Given the description of an element on the screen output the (x, y) to click on. 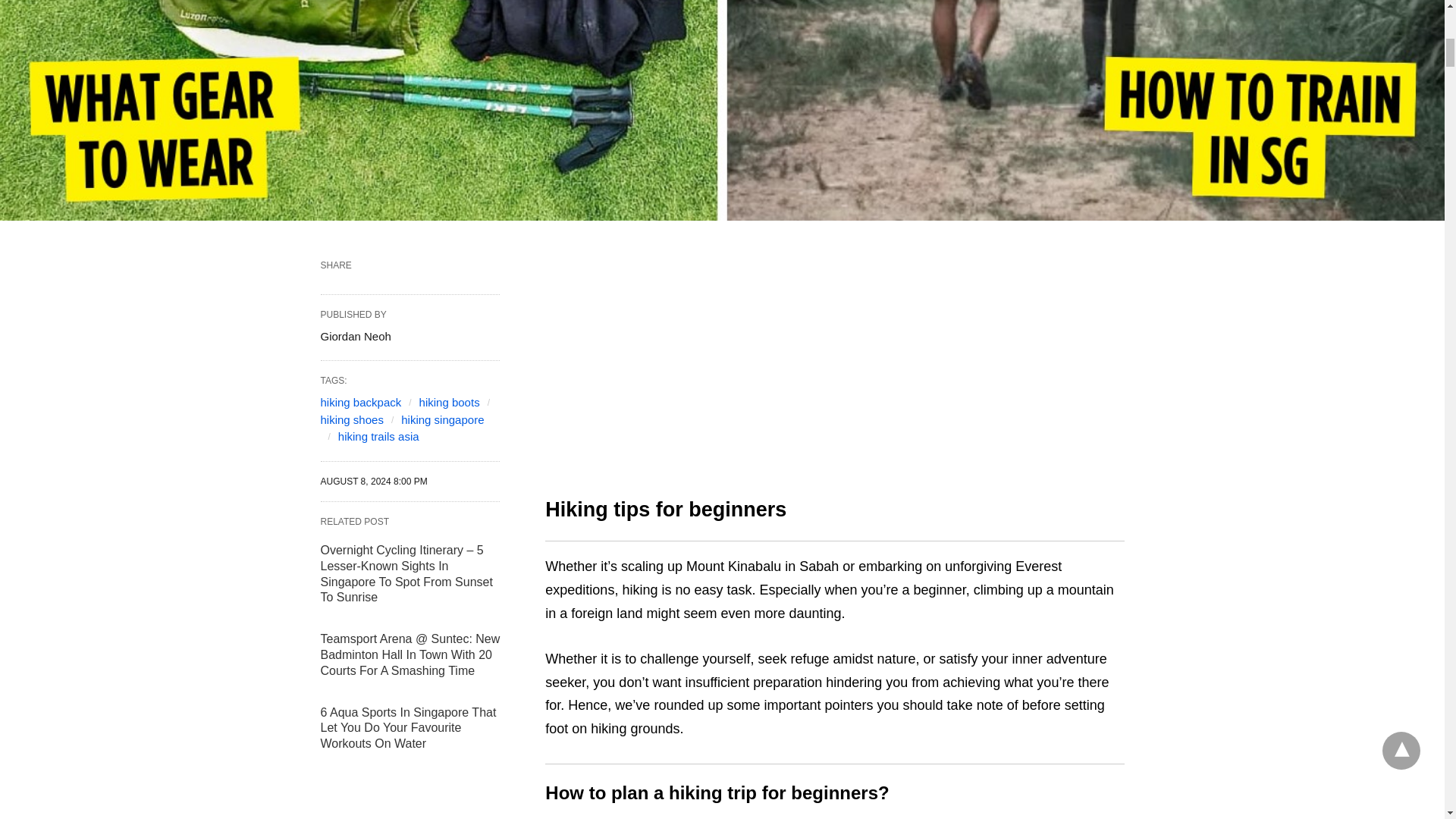
hiking singapore (442, 419)
hiking backpack (360, 401)
hiking boots (449, 401)
hiking shoes (351, 419)
hiking trails asia (378, 436)
